Given the description of an element on the screen output the (x, y) to click on. 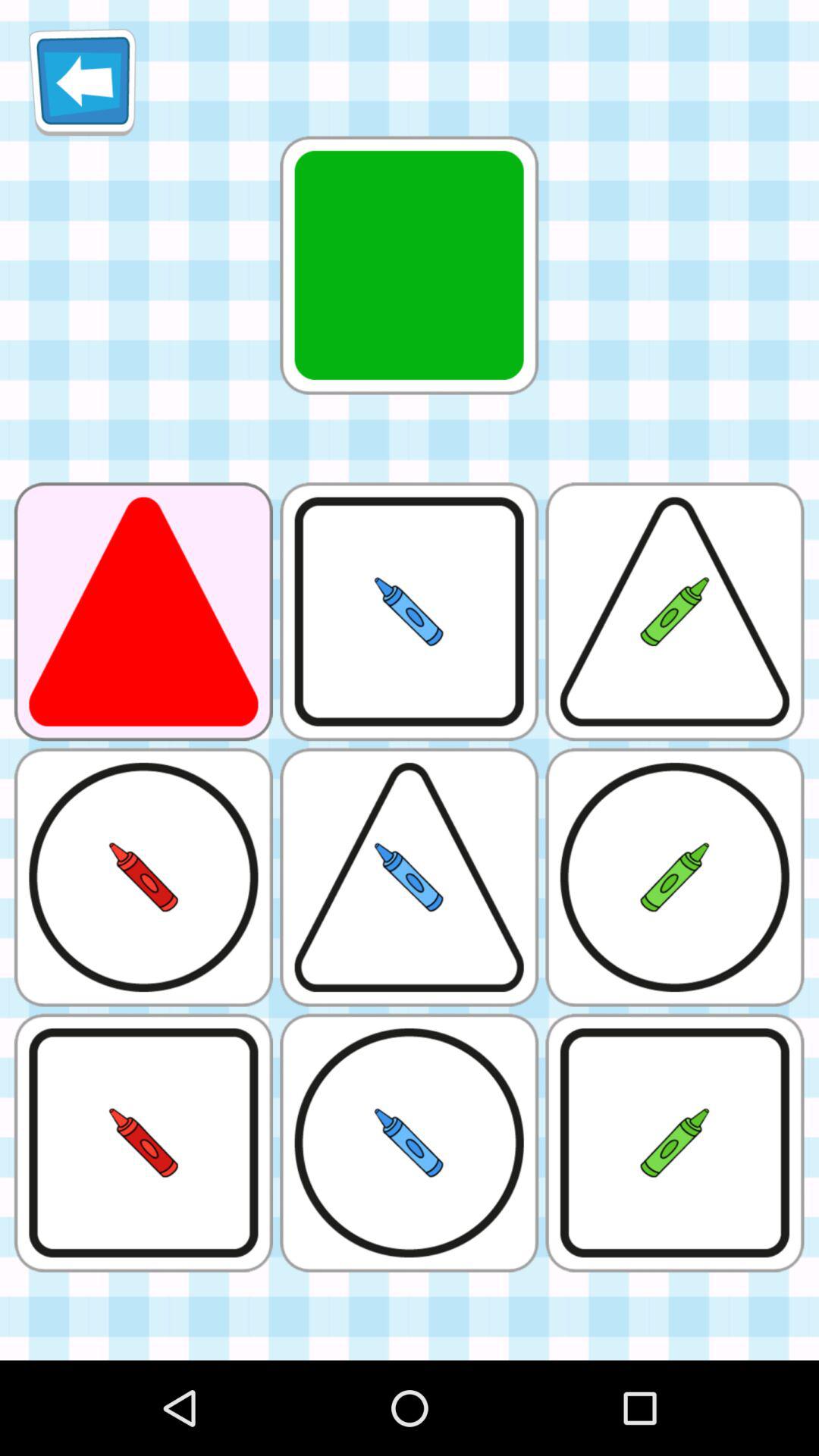
go back (82, 82)
